Given the description of an element on the screen output the (x, y) to click on. 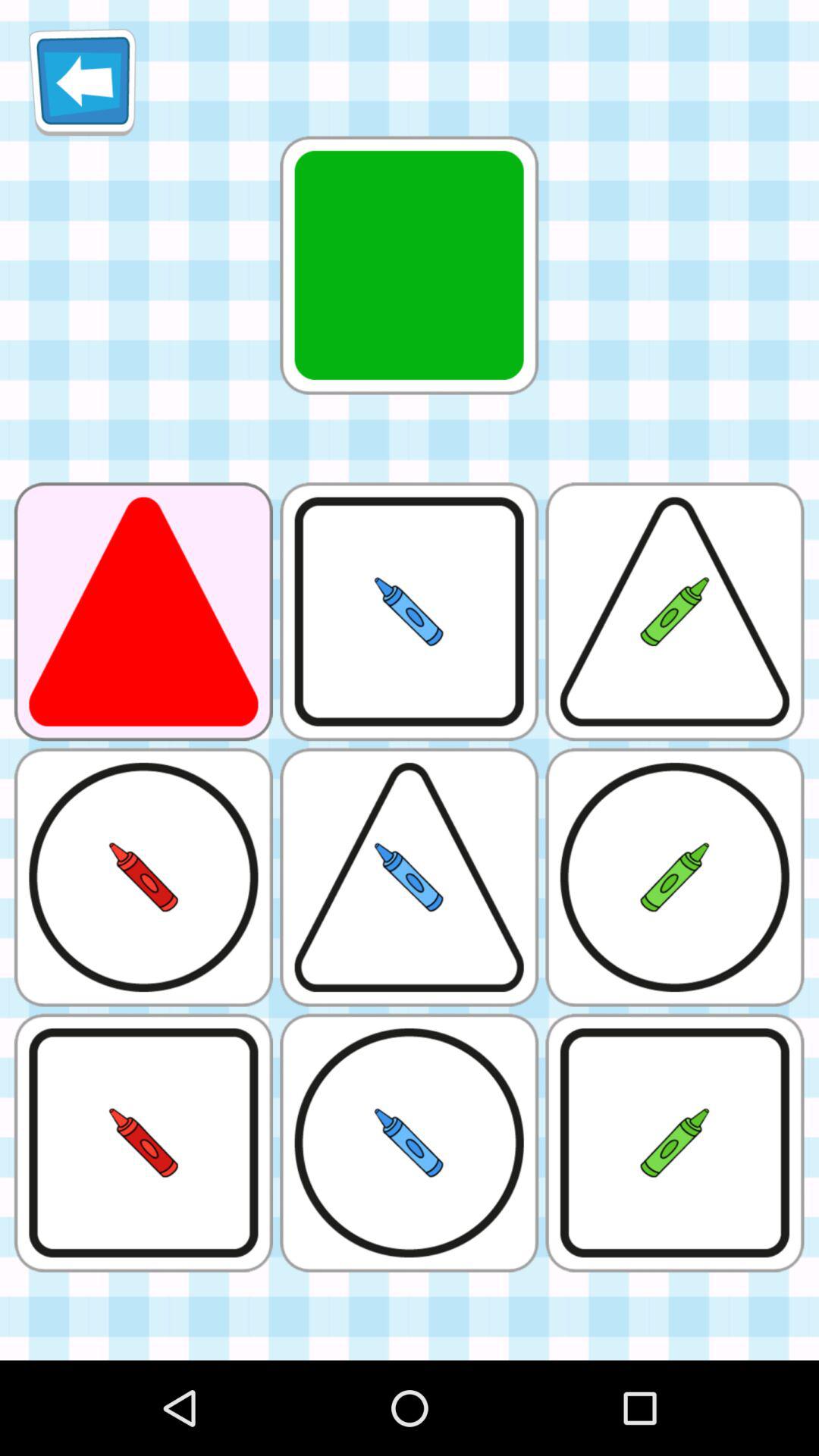
go back (82, 82)
